Given the description of an element on the screen output the (x, y) to click on. 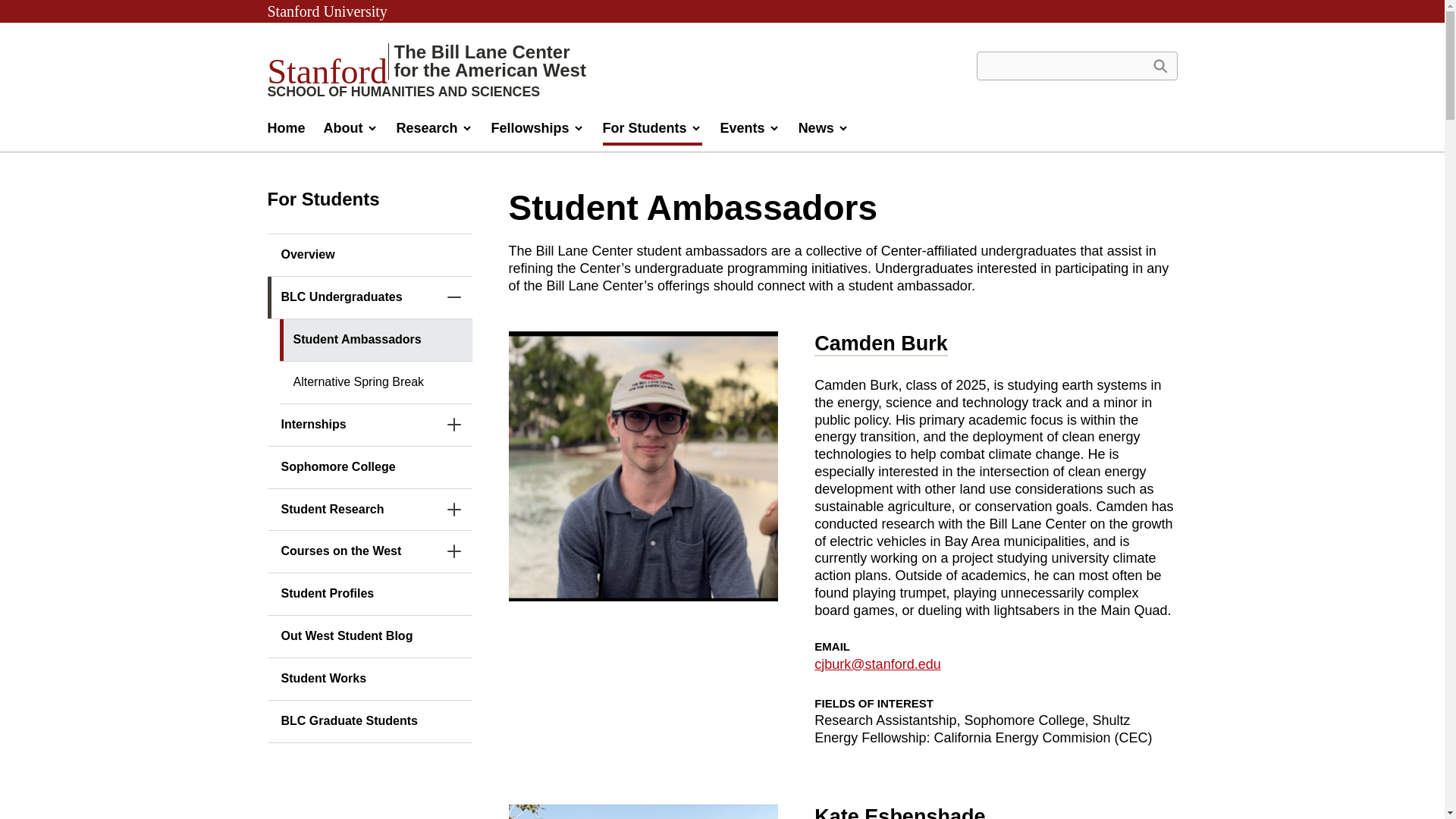
Home (285, 132)
About (350, 132)
Stanford University (326, 11)
Research (433, 132)
